Given the description of an element on the screen output the (x, y) to click on. 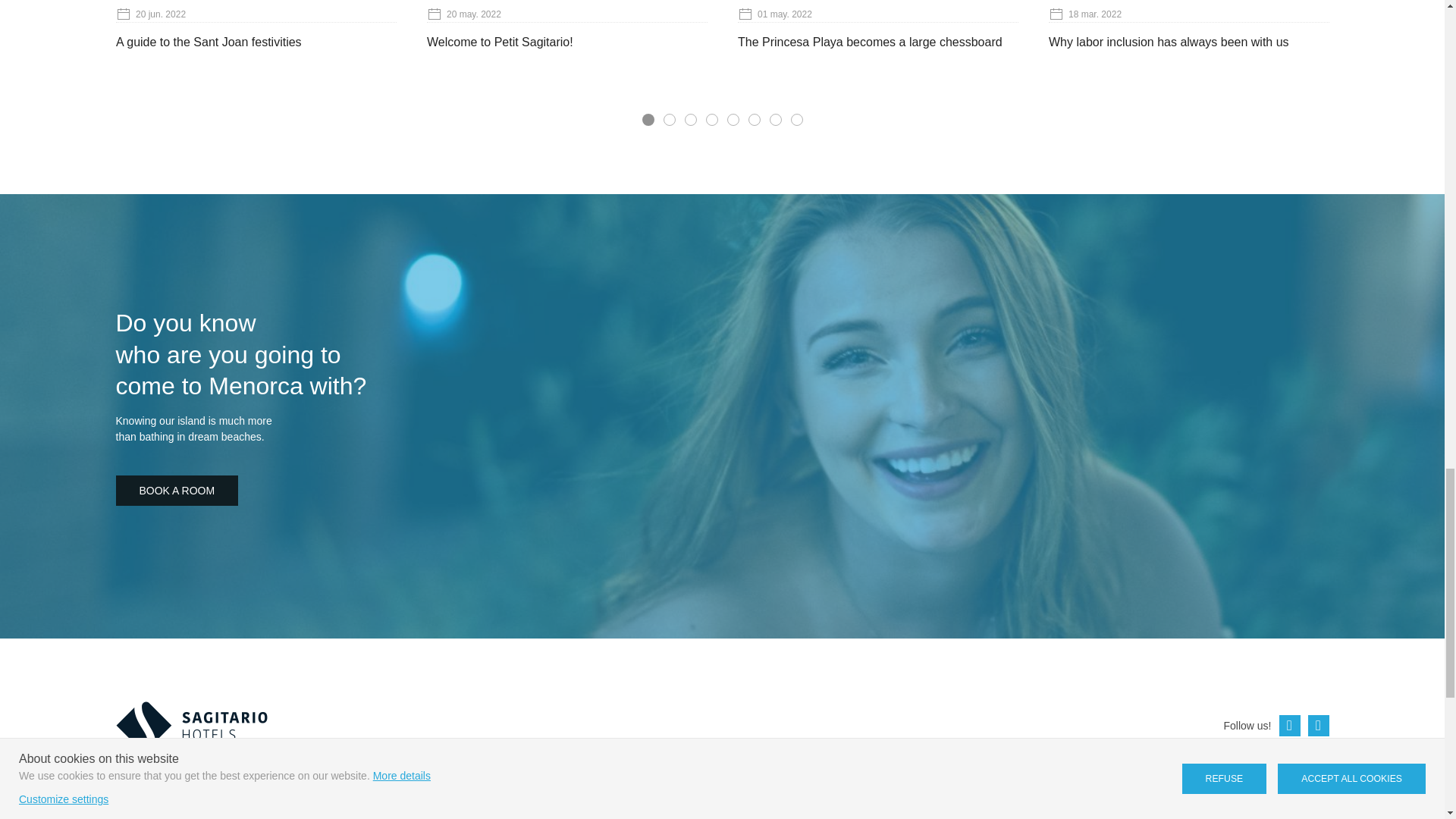
Sagitario Hotels (190, 725)
